Given the description of an element on the screen output the (x, y) to click on. 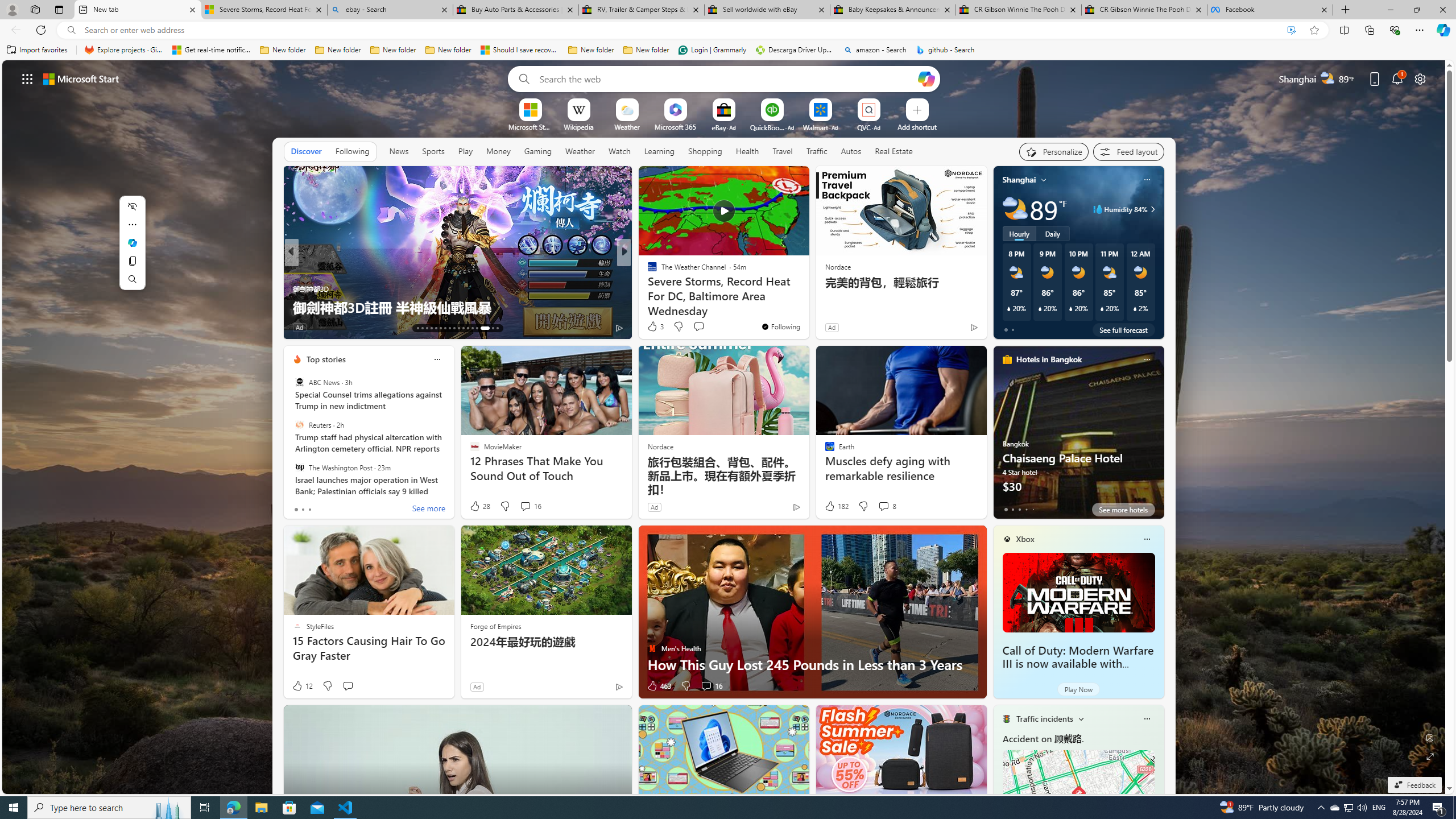
Sports (432, 151)
Partly cloudy (1014, 208)
Traffic (816, 151)
AutomationID: tab-24 (467, 328)
Baby Keepsakes & Announcements for sale | eBay (892, 9)
Class: weather-current-precipitation-glyph (1134, 308)
More options (1146, 718)
You're following The Weather Channel (780, 326)
AutomationID: tab-18 (440, 328)
Watch (619, 151)
Workspaces (34, 9)
